Given the description of an element on the screen output the (x, y) to click on. 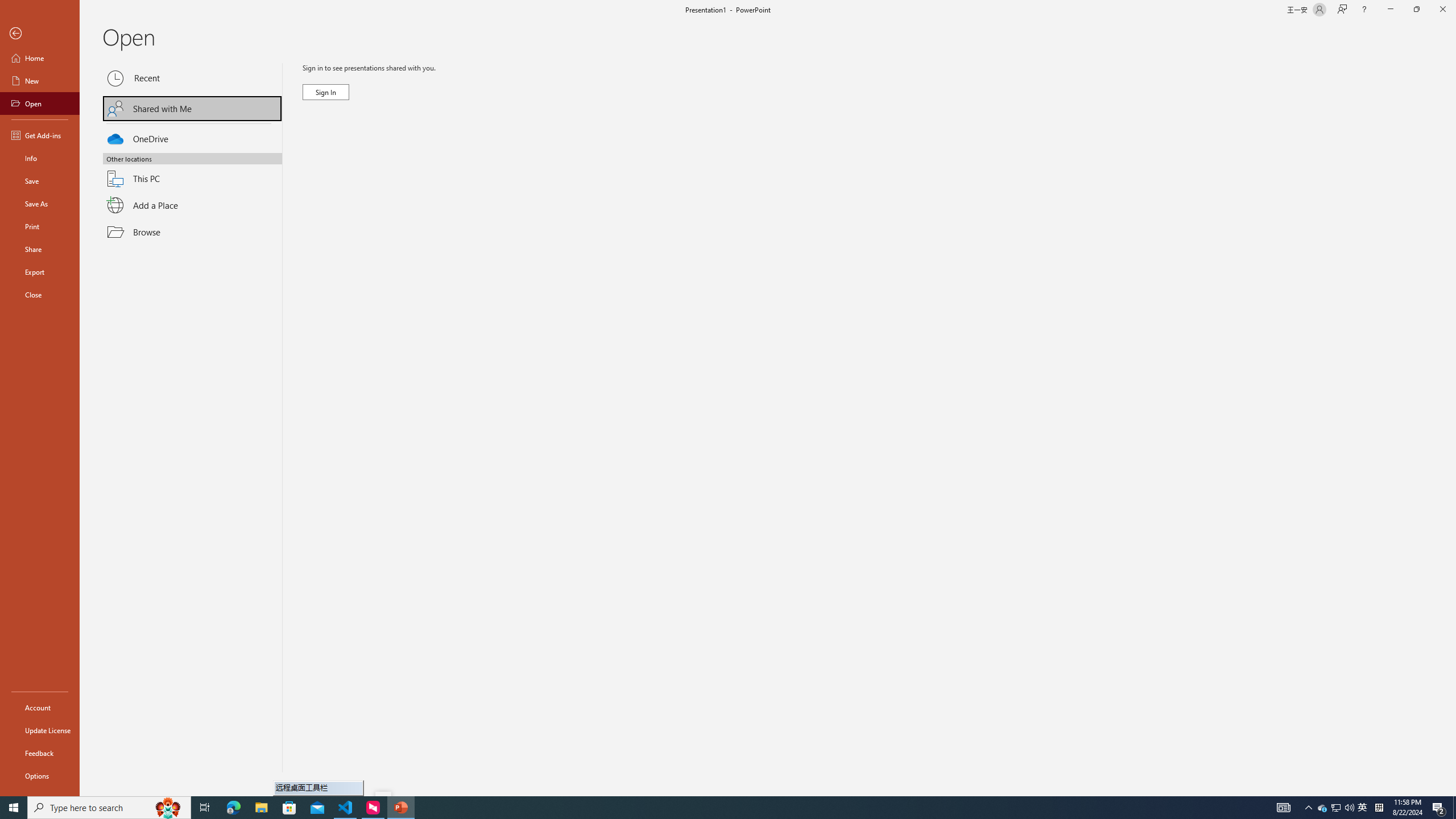
Account (40, 707)
